Given the description of an element on the screen output the (x, y) to click on. 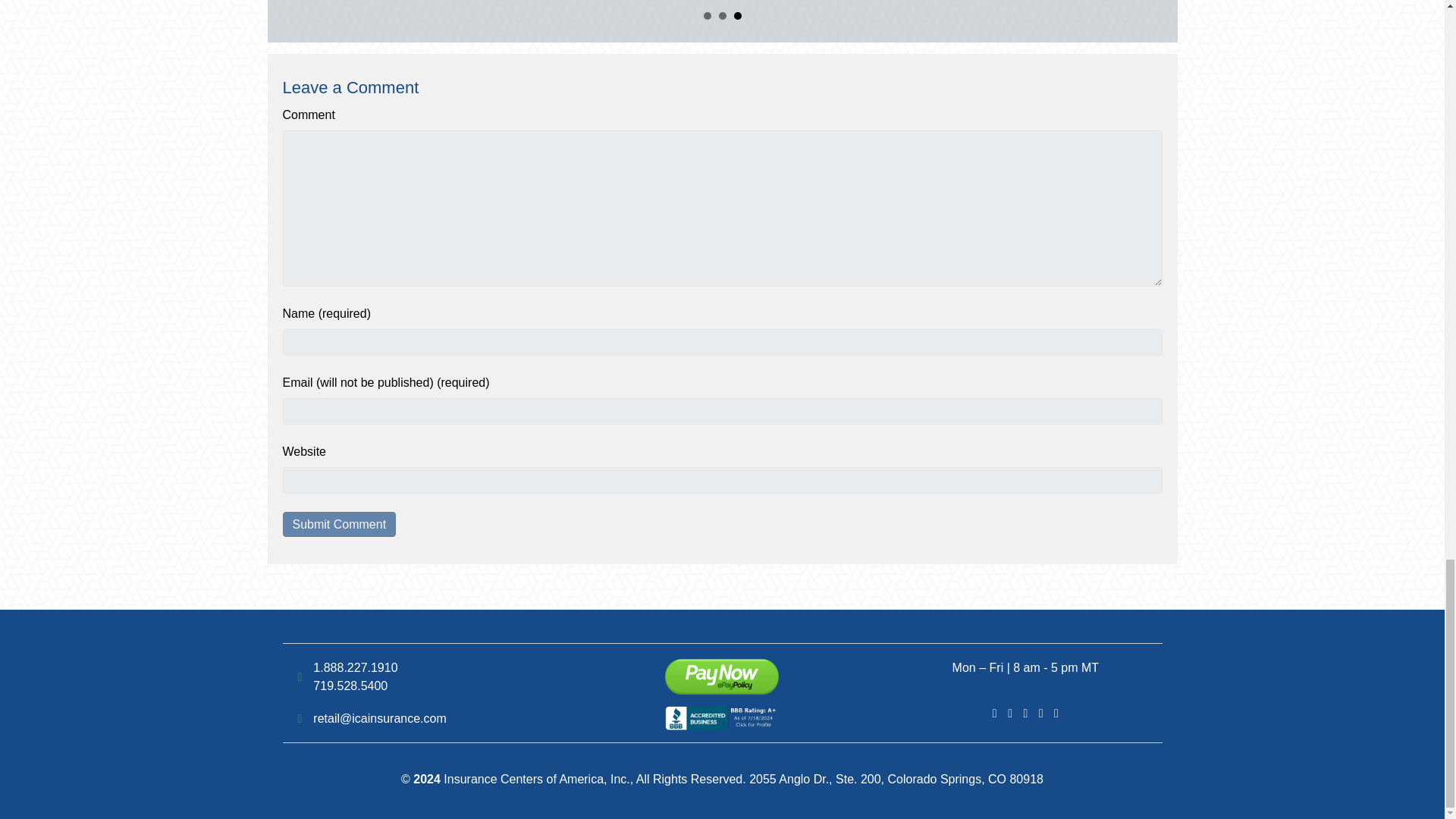
Submit Comment (339, 524)
